Given the description of an element on the screen output the (x, y) to click on. 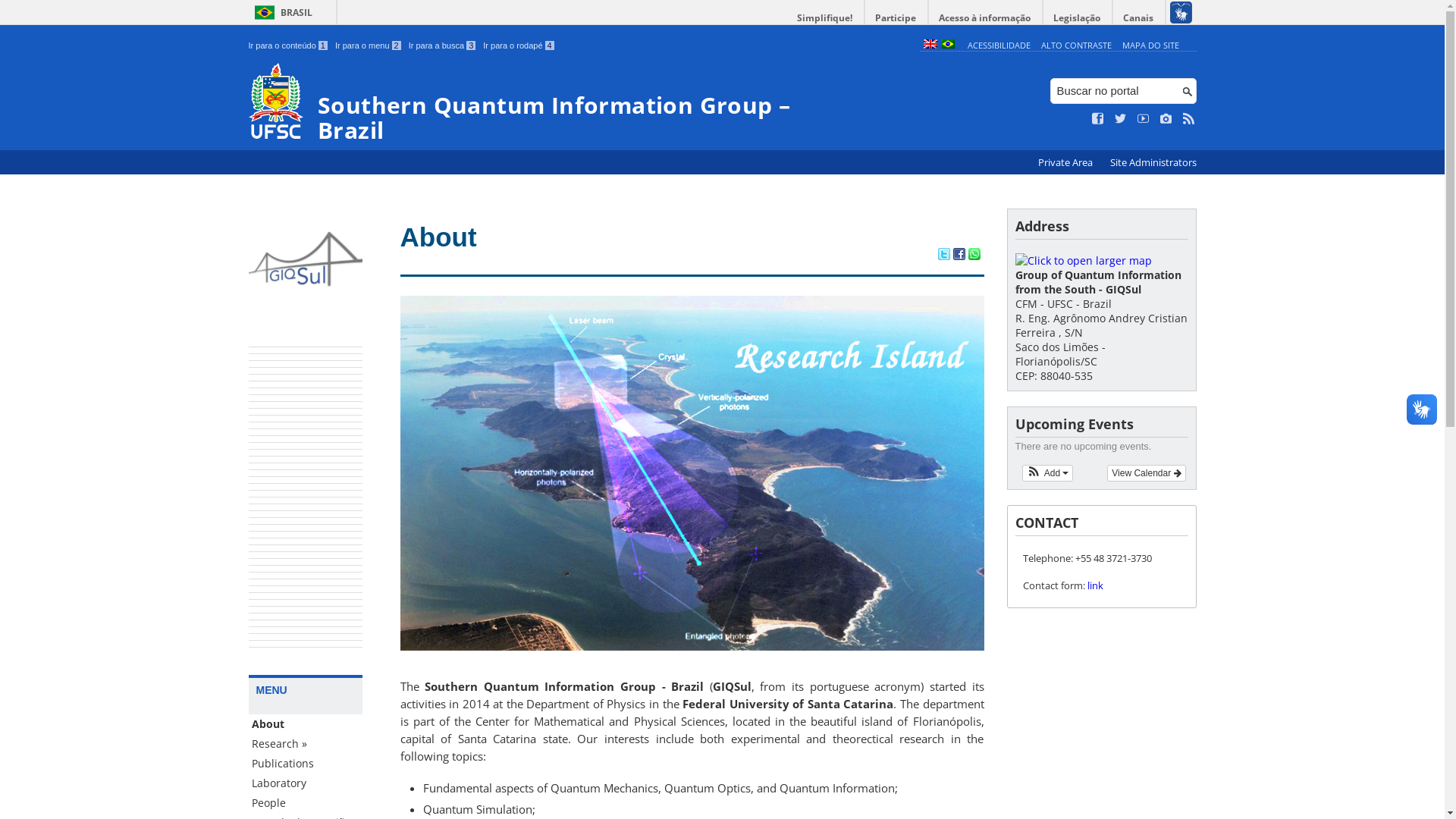
Site Administrators Element type: text (1153, 162)
ACESSIBILIDADE Element type: text (998, 44)
People Element type: text (305, 802)
Compartilhar no Twitter Element type: hover (943, 255)
English (en) Element type: hover (930, 44)
Curta no Facebook Element type: hover (1098, 118)
ALTO CONTRASTE Element type: text (1076, 44)
Veja no Instagram Element type: hover (1166, 118)
Canais Element type: text (1138, 18)
Laboratory Element type: text (305, 783)
Participe Element type: text (895, 18)
Siga no Twitter Element type: hover (1120, 118)
Publications Element type: text (305, 763)
link Element type: text (1095, 585)
About Element type: text (438, 236)
Ir para a busca 3 Element type: text (442, 45)
Click to open larger map Element type: hover (1082, 260)
Private Area Element type: text (1065, 162)
Simplifique! Element type: text (825, 18)
View Calendar Element type: text (1146, 472)
Compartilhar no Facebook Element type: hover (958, 255)
About Element type: text (305, 724)
Ir para o menu 2 Element type: text (368, 45)
Compartilhar no WhatsApp Element type: hover (973, 255)
BRASIL Element type: text (280, 12)
MAPA DO SITE Element type: text (1150, 44)
